Given the description of an element on the screen output the (x, y) to click on. 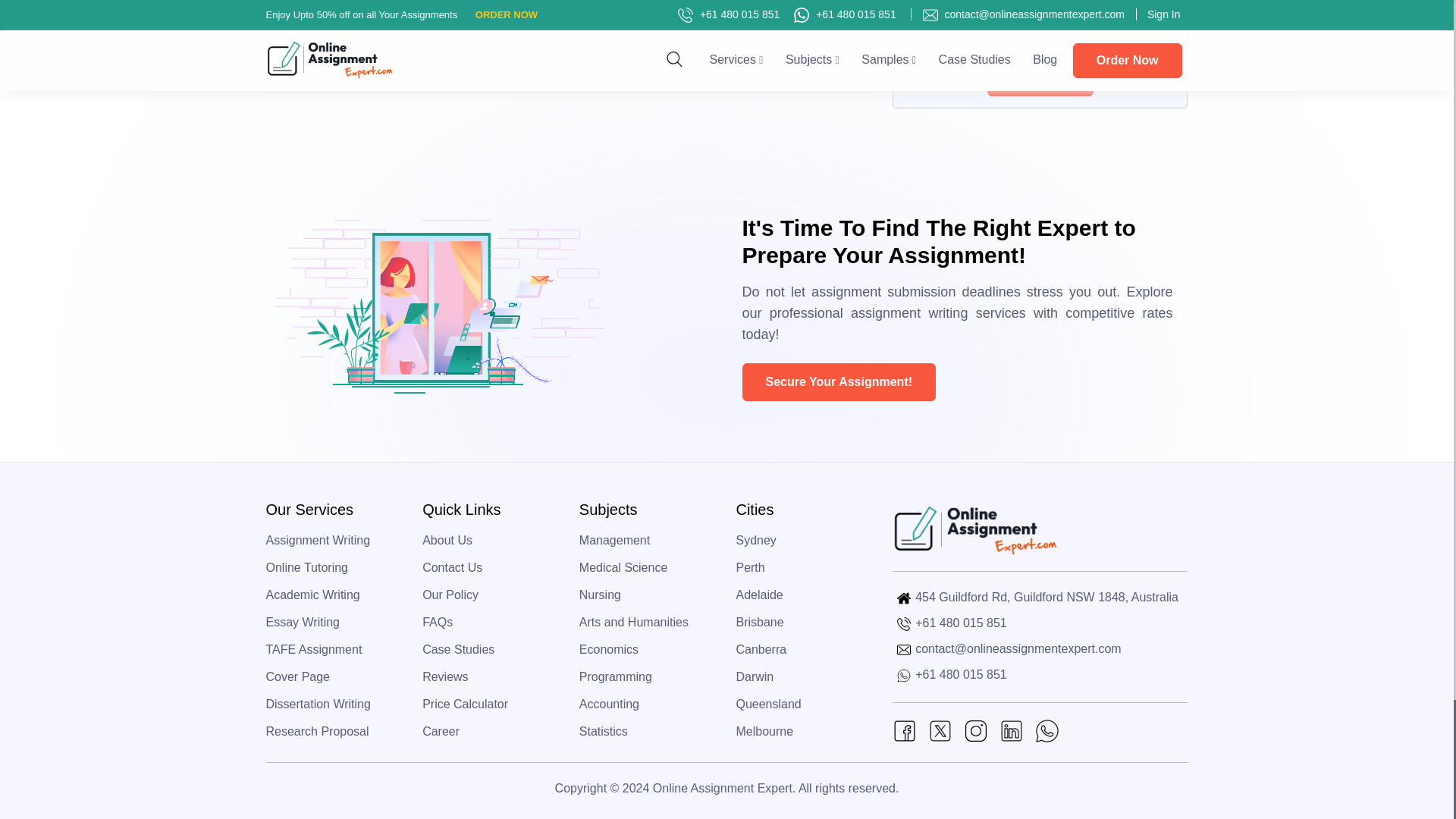
Follow us on WhatsApp (1047, 729)
Follow us on LinkedIn (1010, 729)
Follow us on Facebook (904, 729)
Follow us on Instagram (975, 729)
Follow us on Twitter (940, 729)
